Given the description of an element on the screen output the (x, y) to click on. 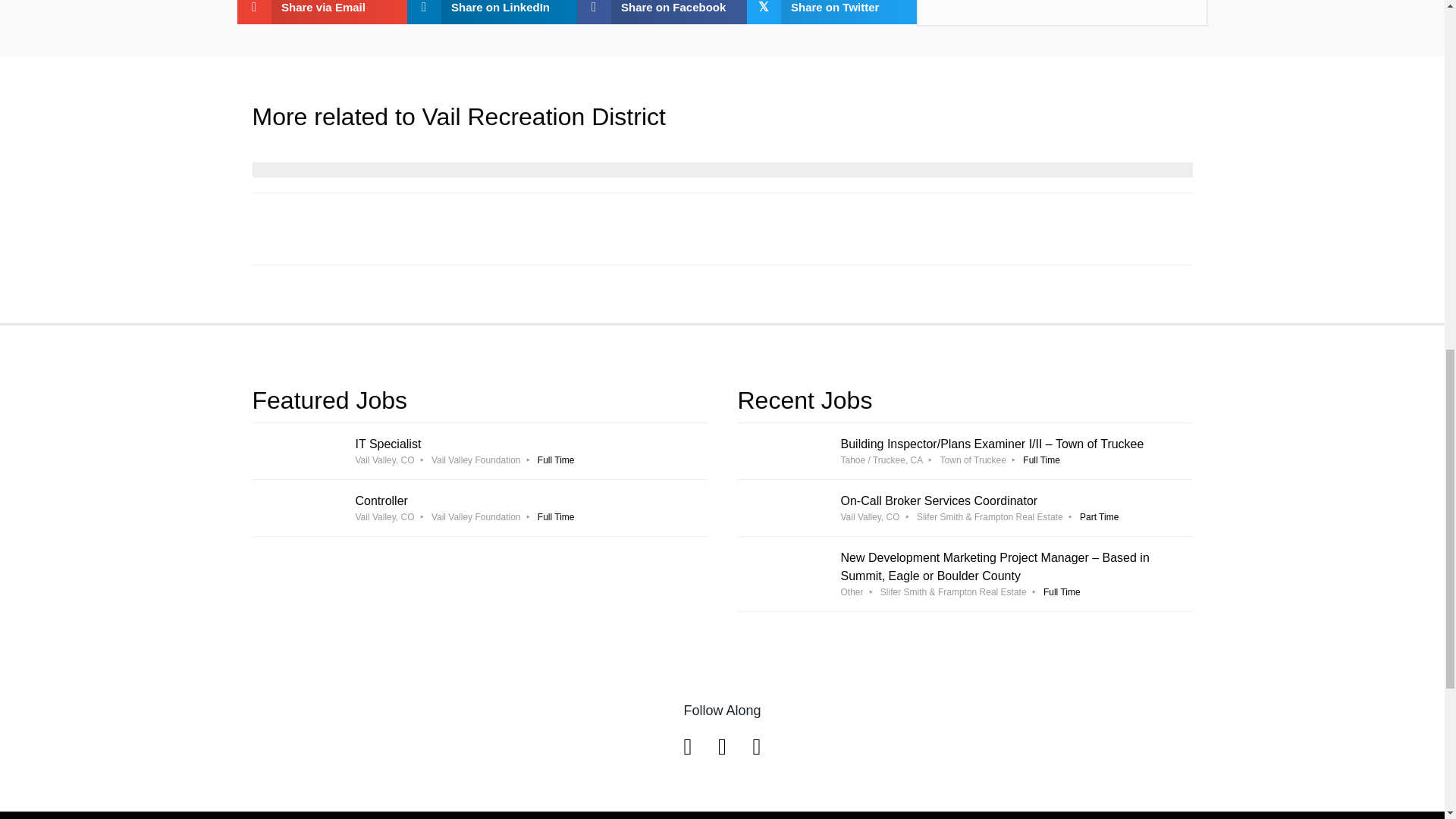
Share on Facebook (660, 12)
Share on LinkedIn (478, 507)
Share via Email (491, 12)
